Given the description of an element on the screen output the (x, y) to click on. 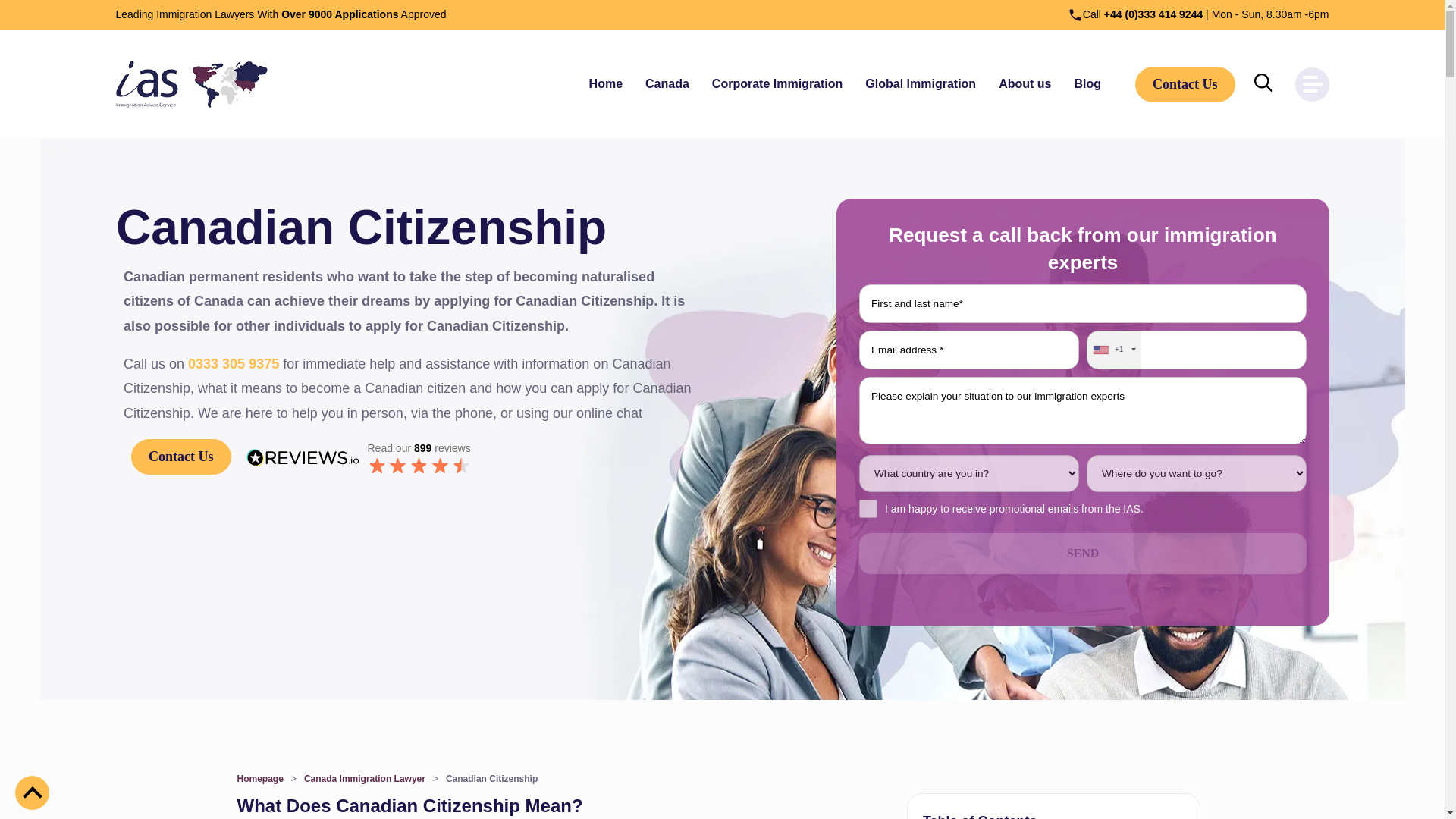
Homepage (258, 778)
SEND (1082, 553)
I am happy to receive promotional emails from the IAS. (867, 508)
Immigration Advice Service (190, 83)
Home (606, 83)
Canadian Citizenship (491, 778)
Canada Immigration Lawyer (364, 778)
